Given the description of an element on the screen output the (x, y) to click on. 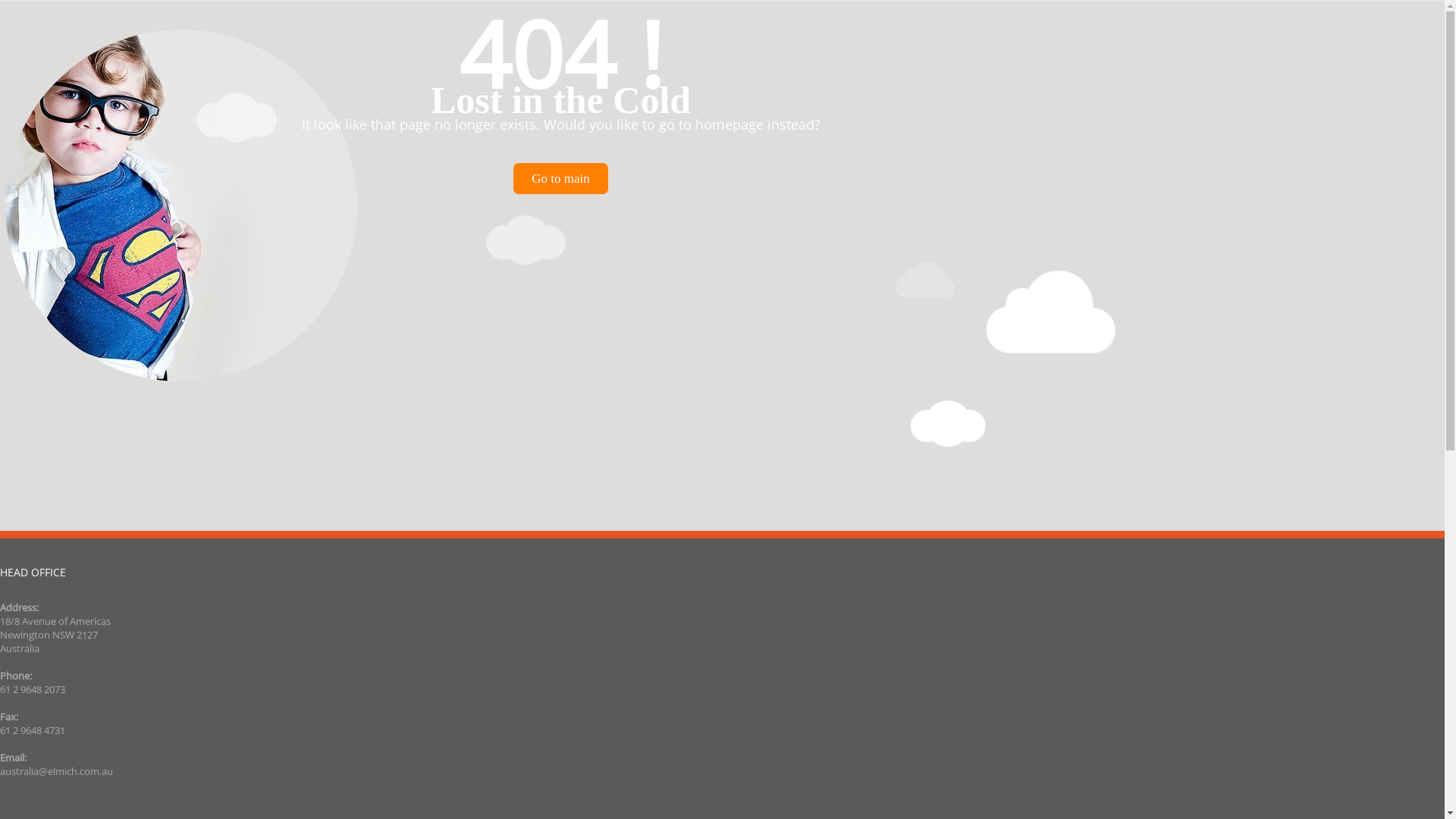
australia@elmich.com.au Element type: text (56, 771)
Go to main Element type: text (560, 178)
